Given the description of an element on the screen output the (x, y) to click on. 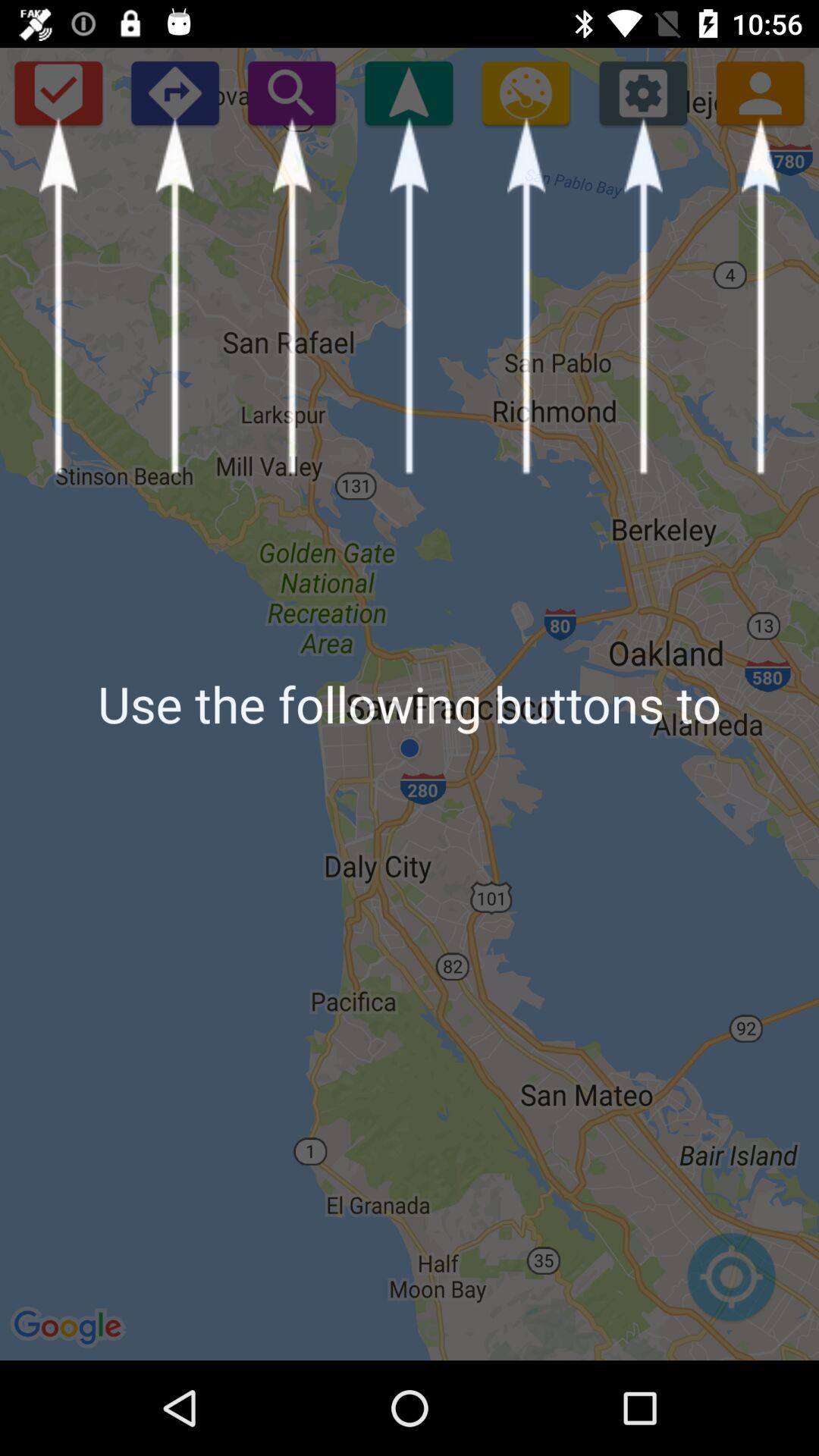
settings (642, 92)
